Given the description of an element on the screen output the (x, y) to click on. 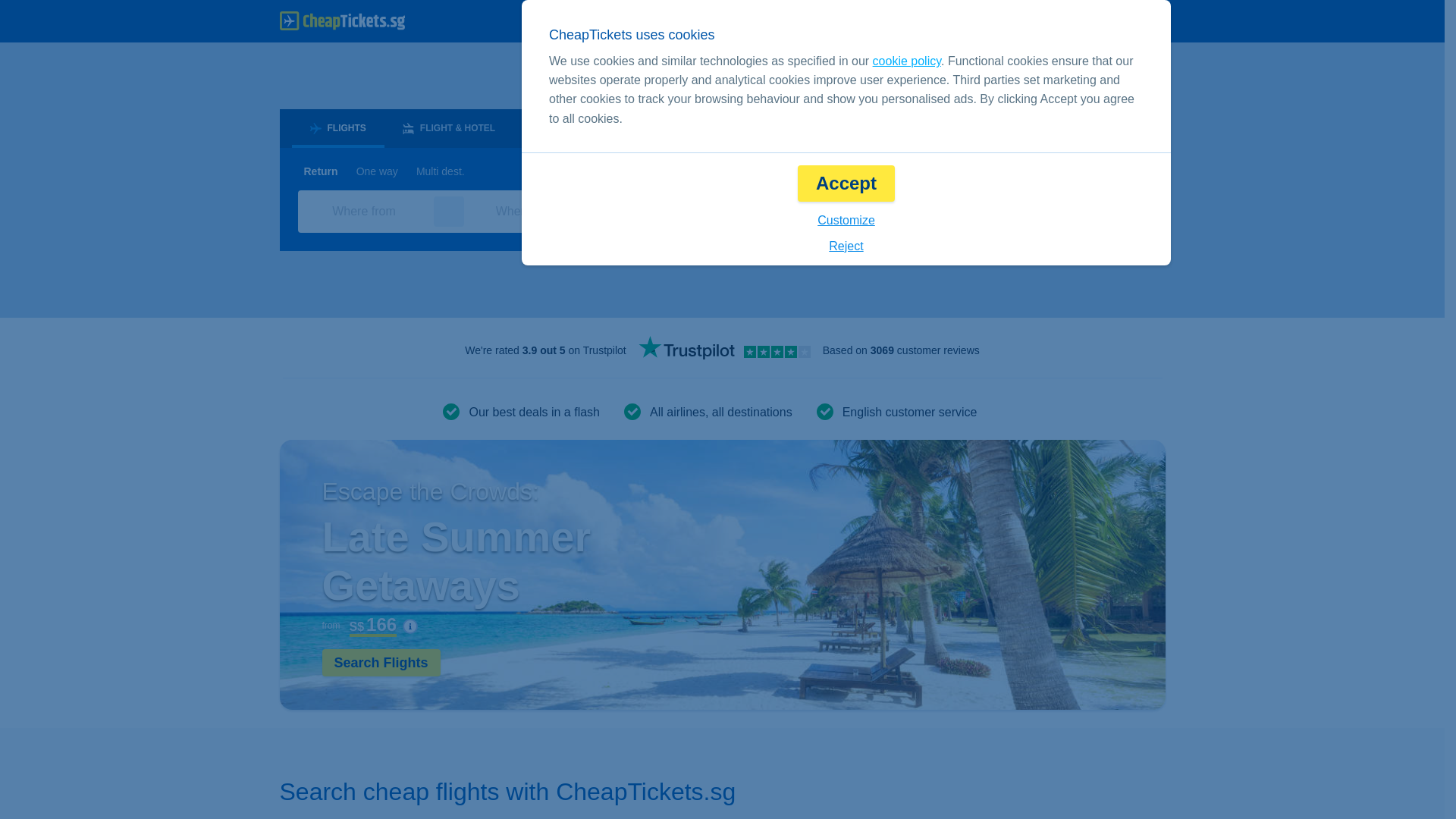
My Account (1116, 21)
Search (1087, 211)
English (902, 21)
Search Flights (380, 662)
Based on 3069 customer reviews (900, 350)
